Given the description of an element on the screen output the (x, y) to click on. 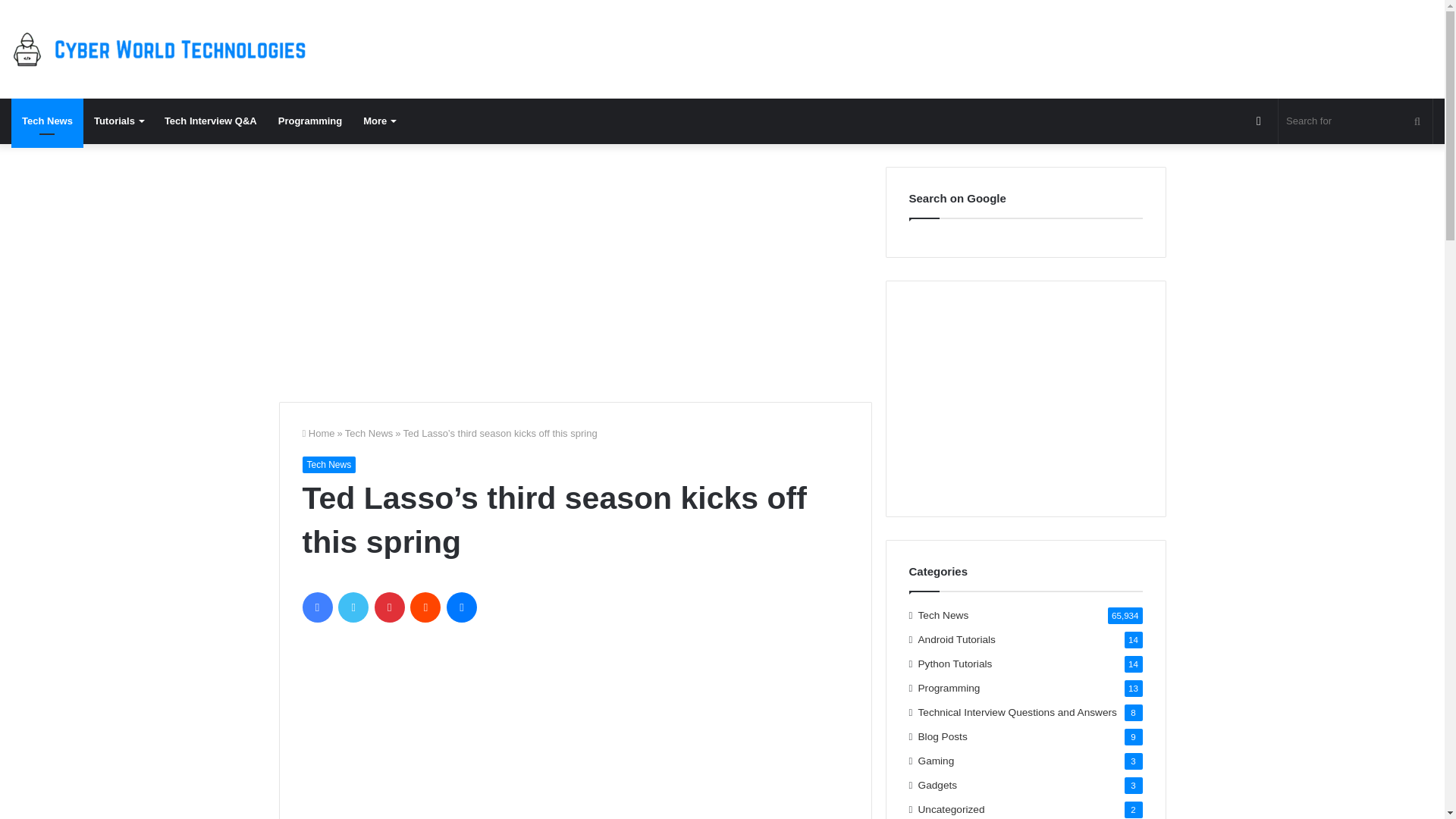
Programming (310, 121)
Home (317, 432)
Advertisement (575, 273)
Facebook (316, 607)
Tutorials (118, 121)
Twitter (352, 607)
Search for (1355, 121)
Tech News (46, 121)
Twitter (352, 607)
Messenger (461, 607)
